Given the description of an element on the screen output the (x, y) to click on. 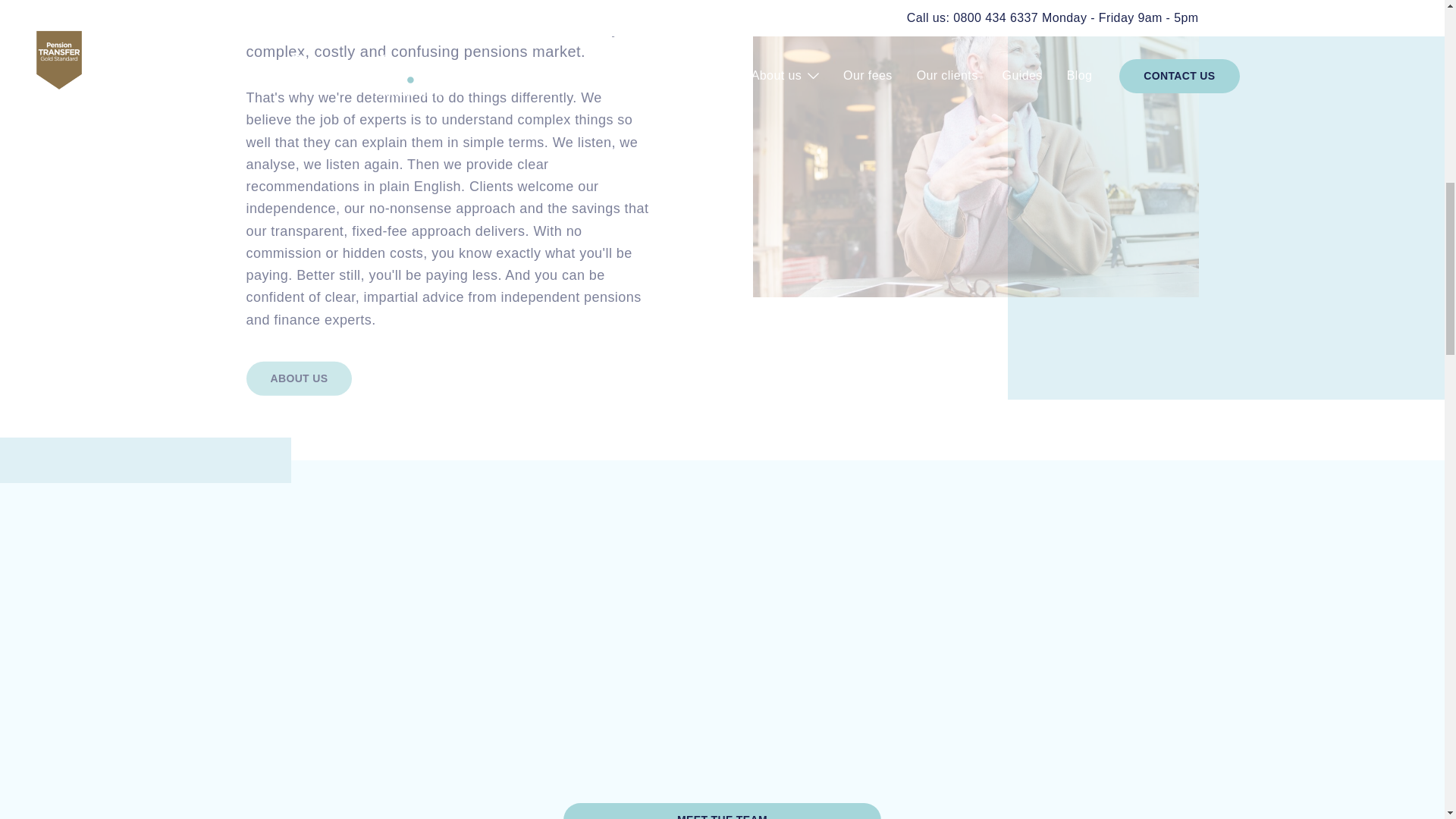
ABOUT US (299, 378)
MEET THE TEAM (721, 811)
